Given the description of an element on the screen output the (x, y) to click on. 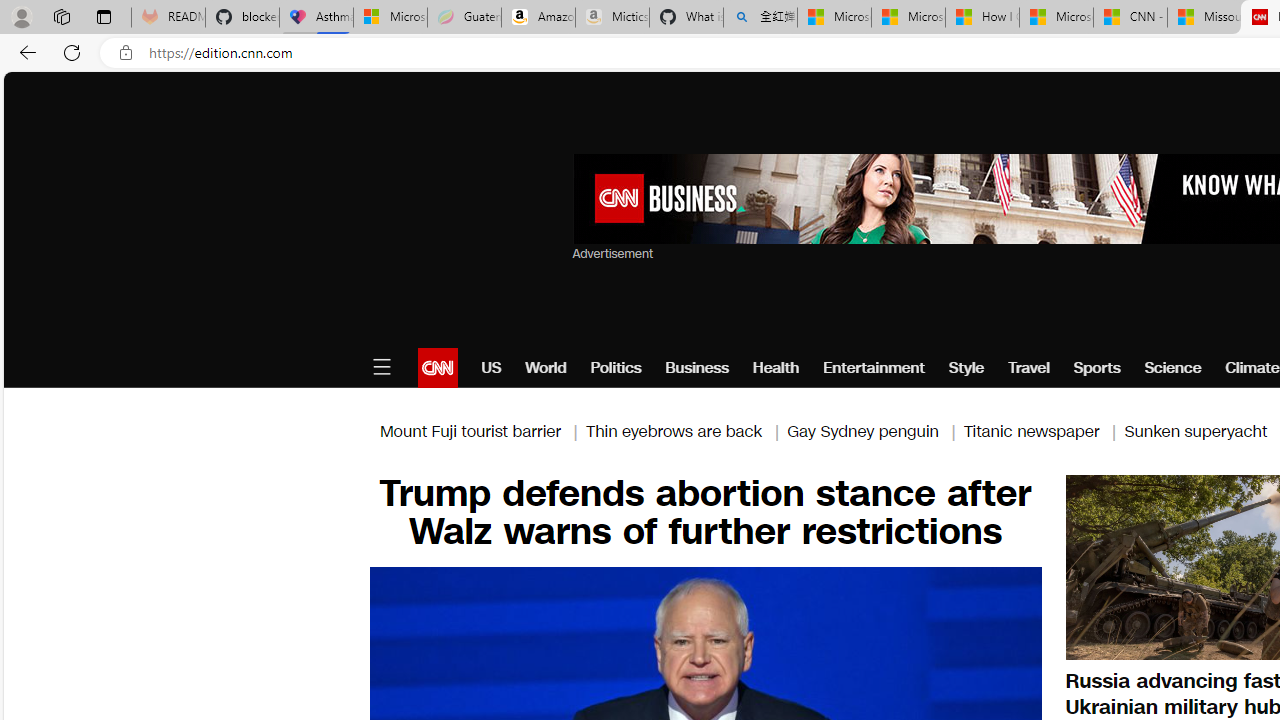
Health (776, 367)
CNN - MSN (1130, 17)
Open Menu Icon (381, 367)
Microsoft-Report a Concern to Bing (390, 17)
Style (966, 367)
Travel (1028, 367)
Mount Fuji tourist barrier | (482, 430)
Sports (1096, 367)
CNN logo (437, 367)
